Given the description of an element on the screen output the (x, y) to click on. 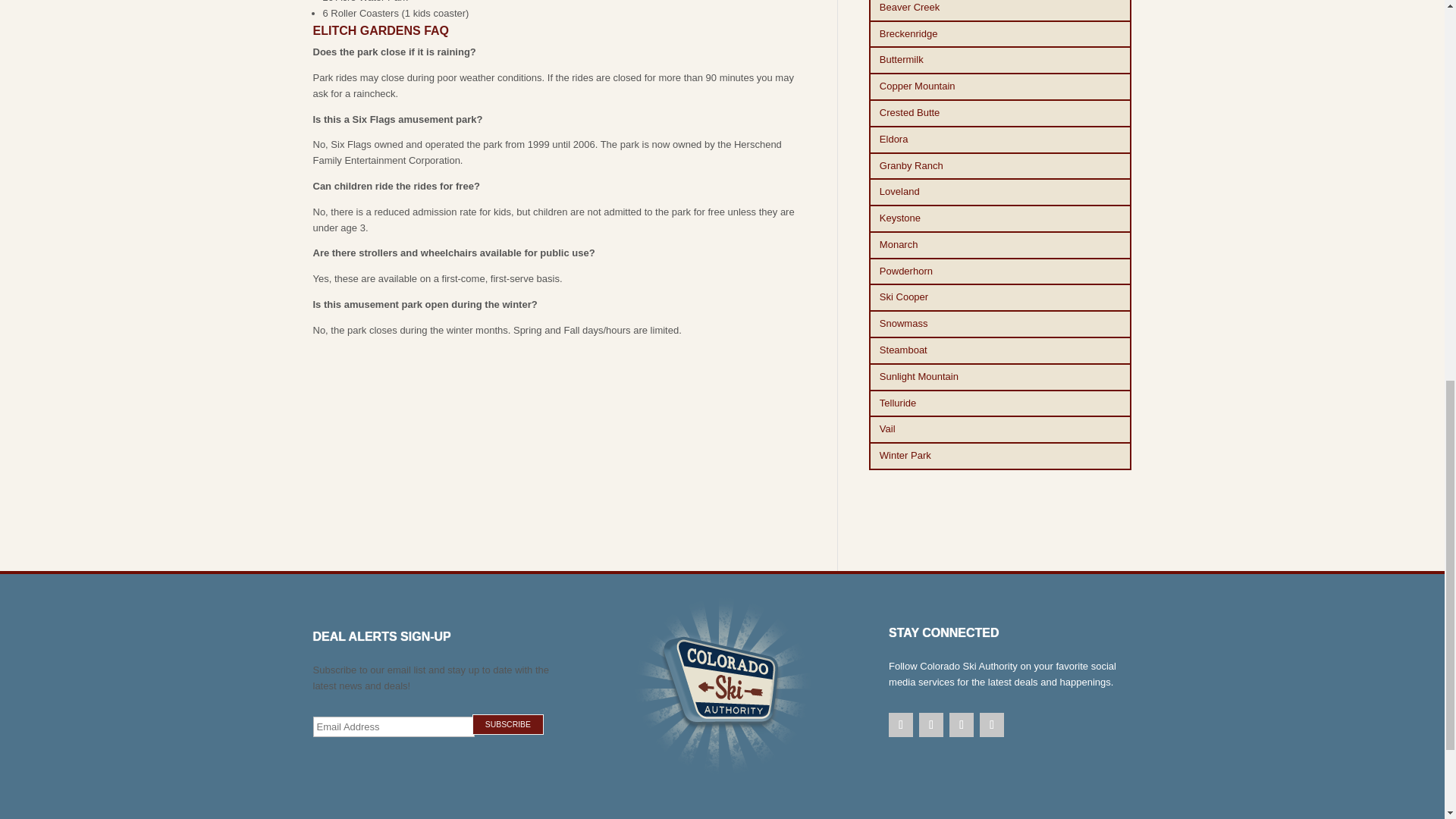
Subscribe (507, 724)
